Given the description of an element on the screen output the (x, y) to click on. 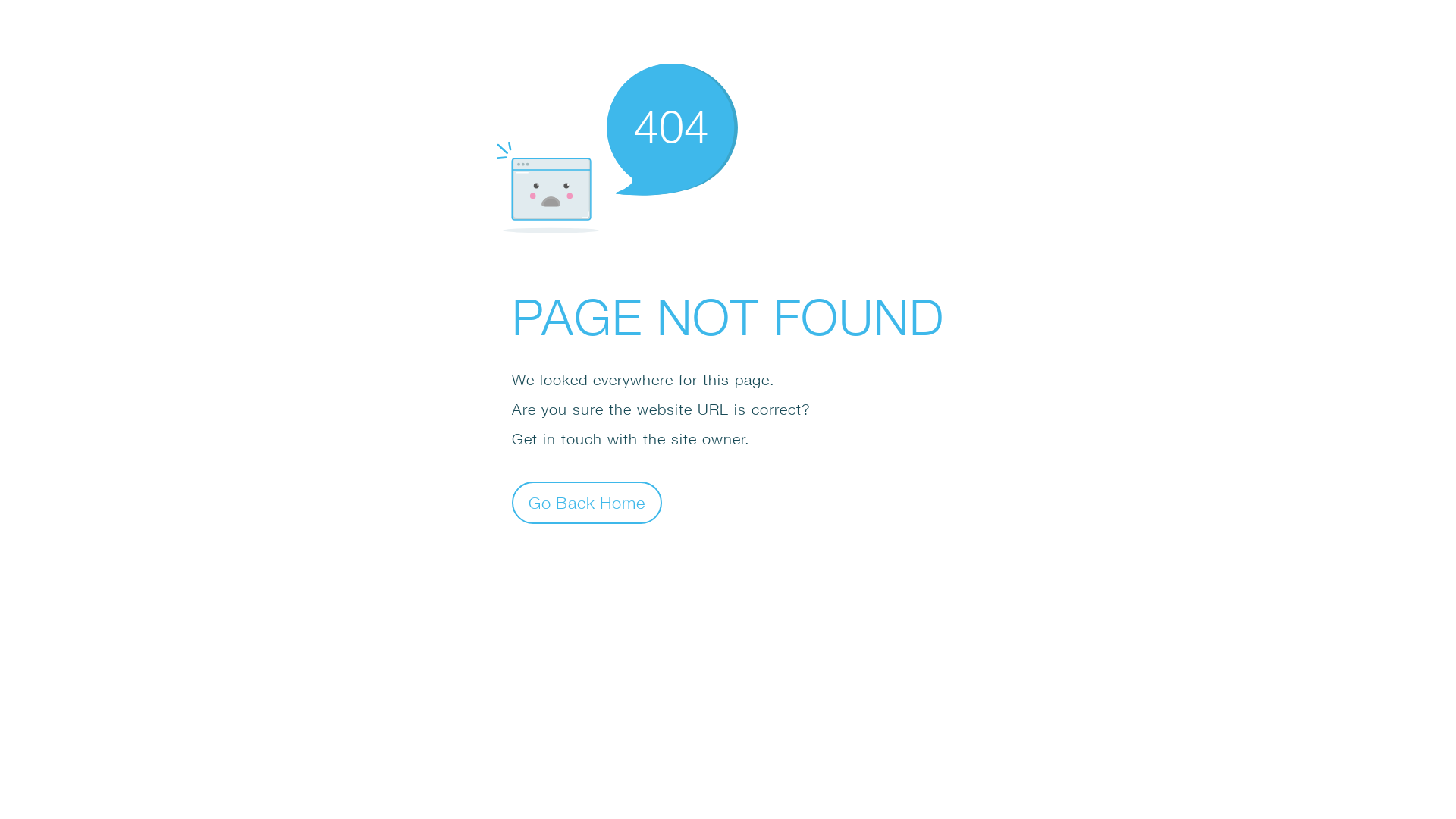
Go Back Home Element type: text (586, 502)
